Given the description of an element on the screen output the (x, y) to click on. 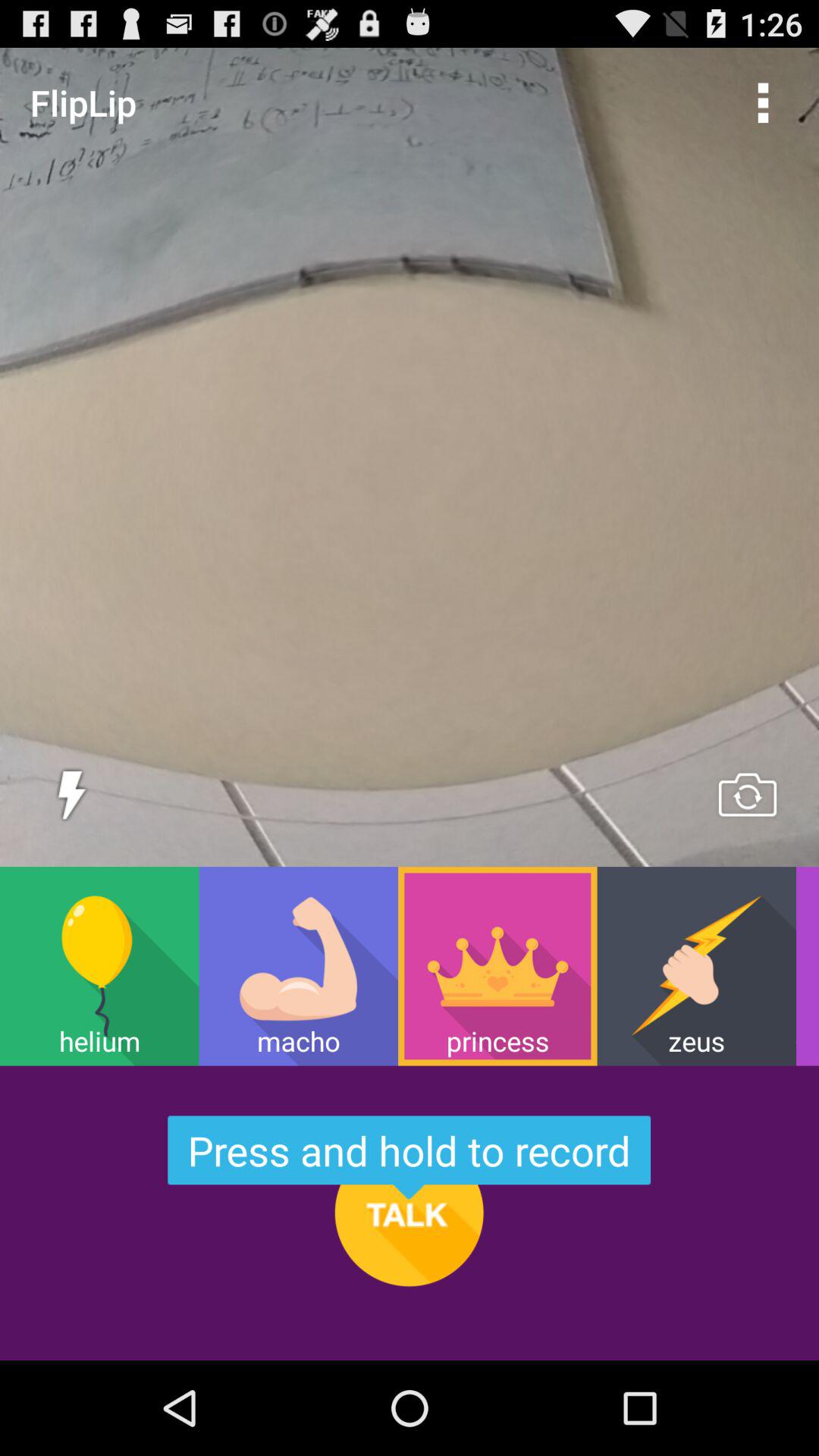
launch the item next to princess item (696, 965)
